Given the description of an element on the screen output the (x, y) to click on. 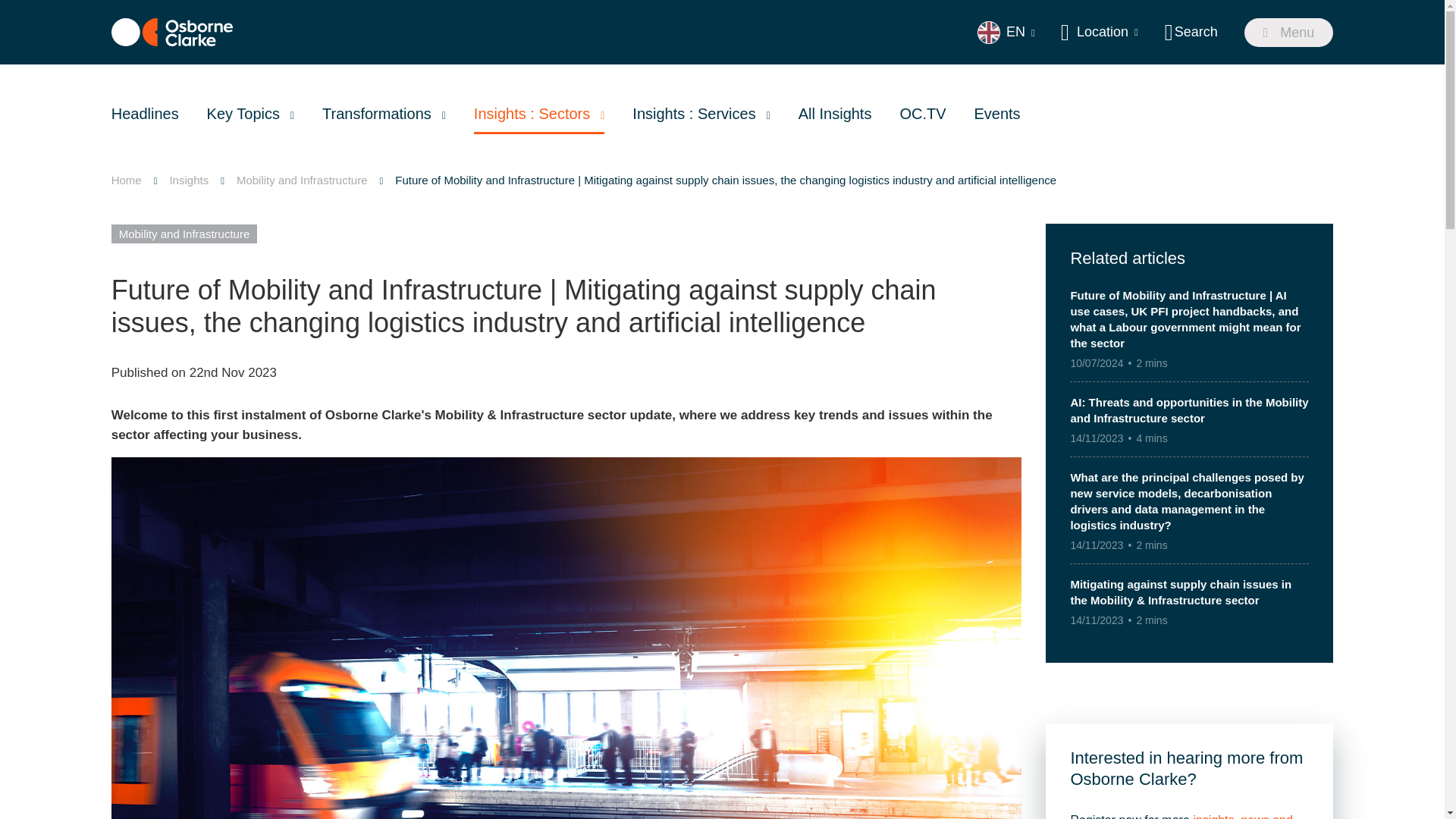
Osborne Clarke (172, 32)
Menu (1288, 32)
